Given the description of an element on the screen output the (x, y) to click on. 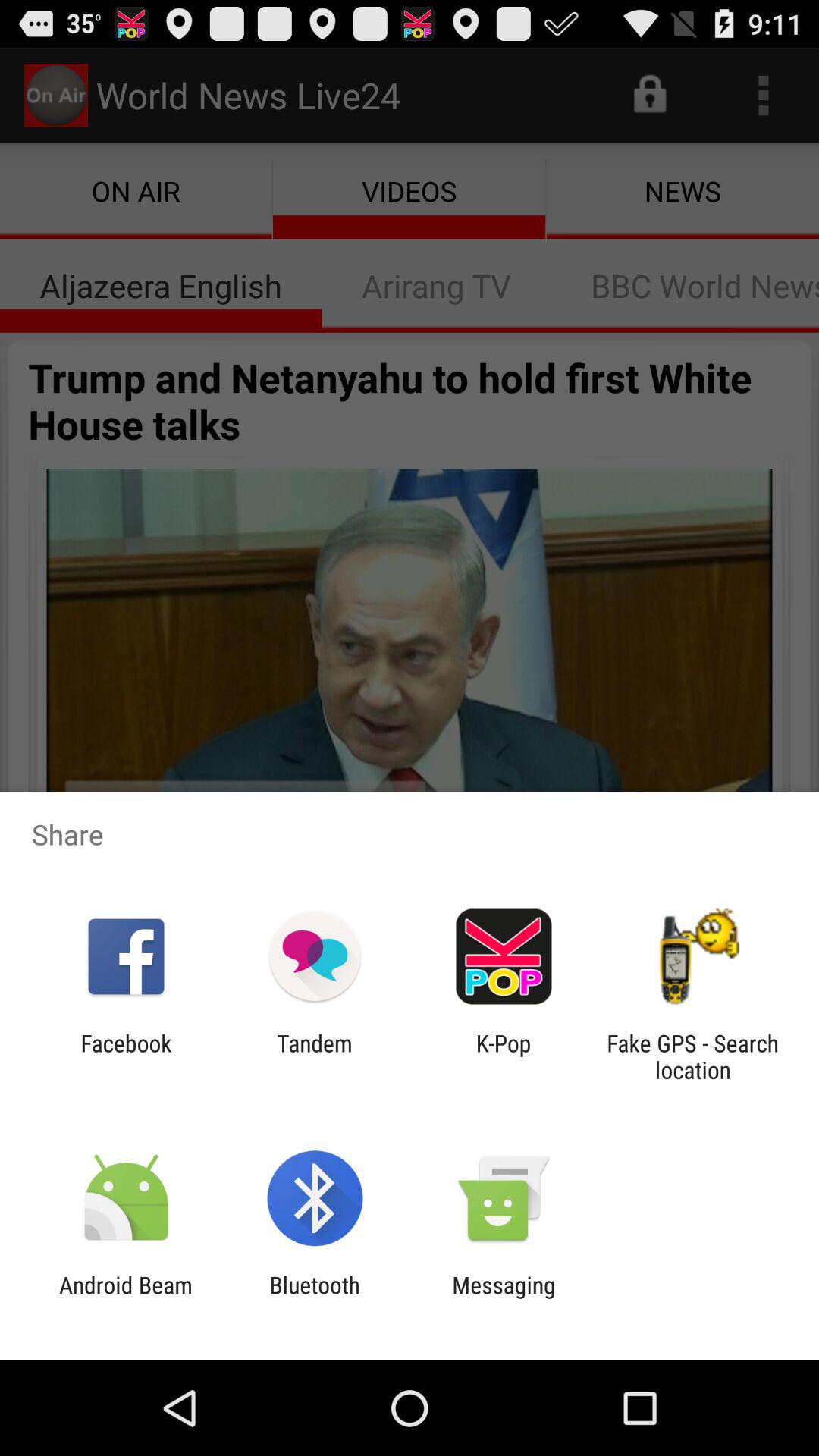
open app next to k-pop app (314, 1056)
